Given the description of an element on the screen output the (x, y) to click on. 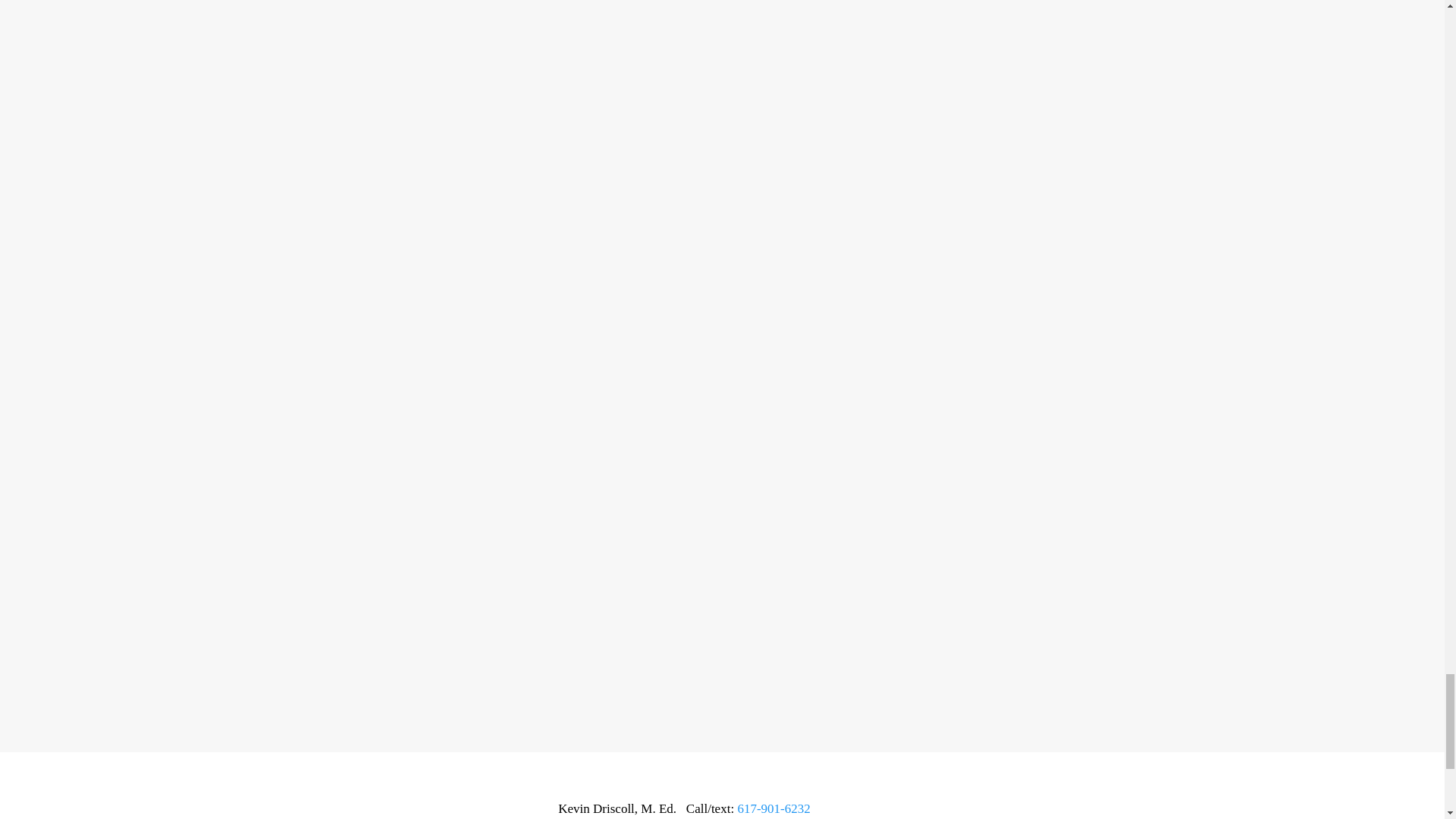
617-901-6232 (772, 808)
